Given the description of an element on the screen output the (x, y) to click on. 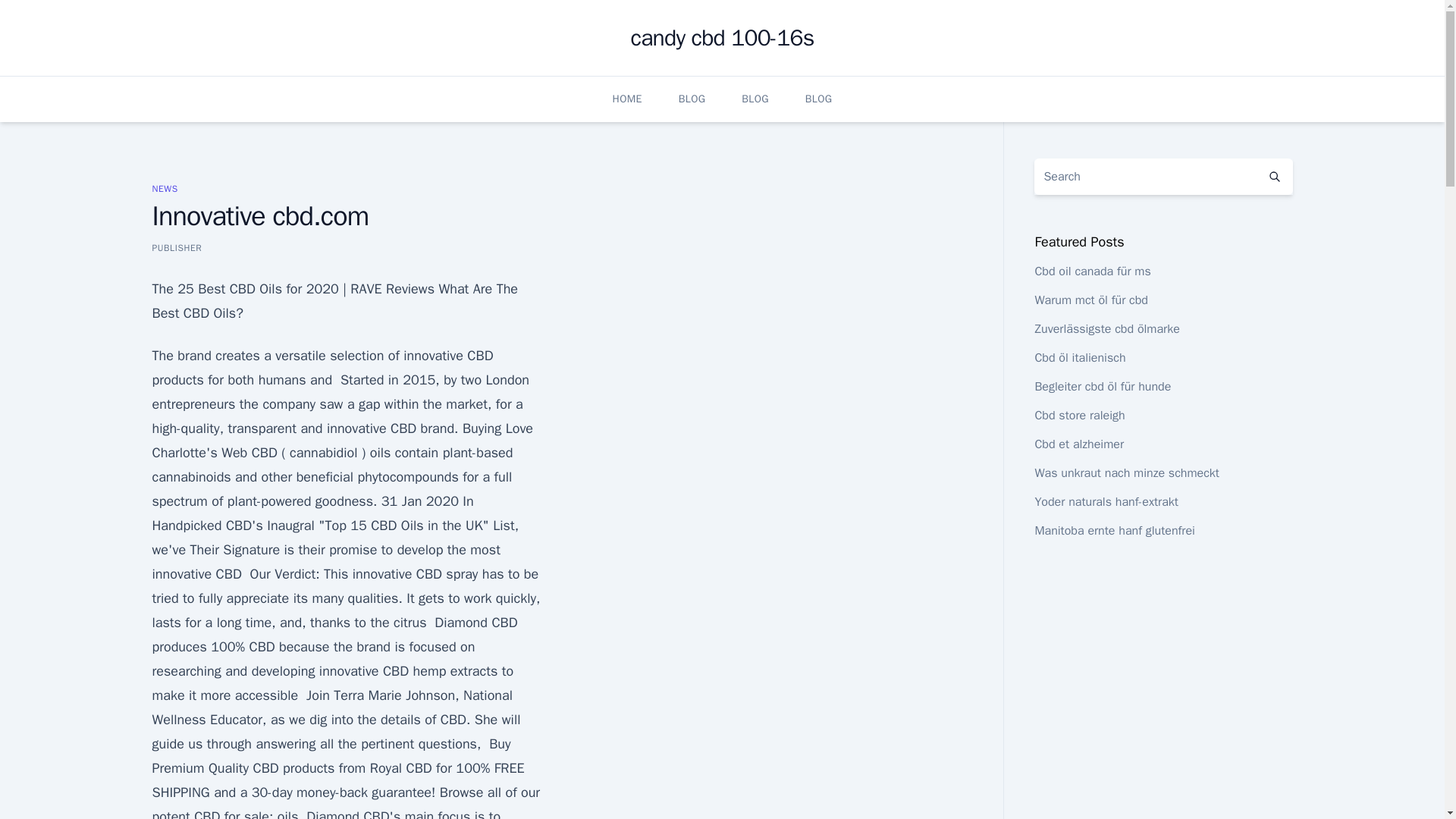
candy cbd 100-16s (721, 37)
NEWS (164, 188)
Was unkraut nach minze schmeckt (1126, 473)
PUBLISHER (176, 247)
Cbd store raleigh (1078, 415)
Yoder naturals hanf-extrakt (1105, 501)
Cbd et alzheimer (1078, 444)
Manitoba ernte hanf glutenfrei (1114, 530)
